Given the description of an element on the screen output the (x, y) to click on. 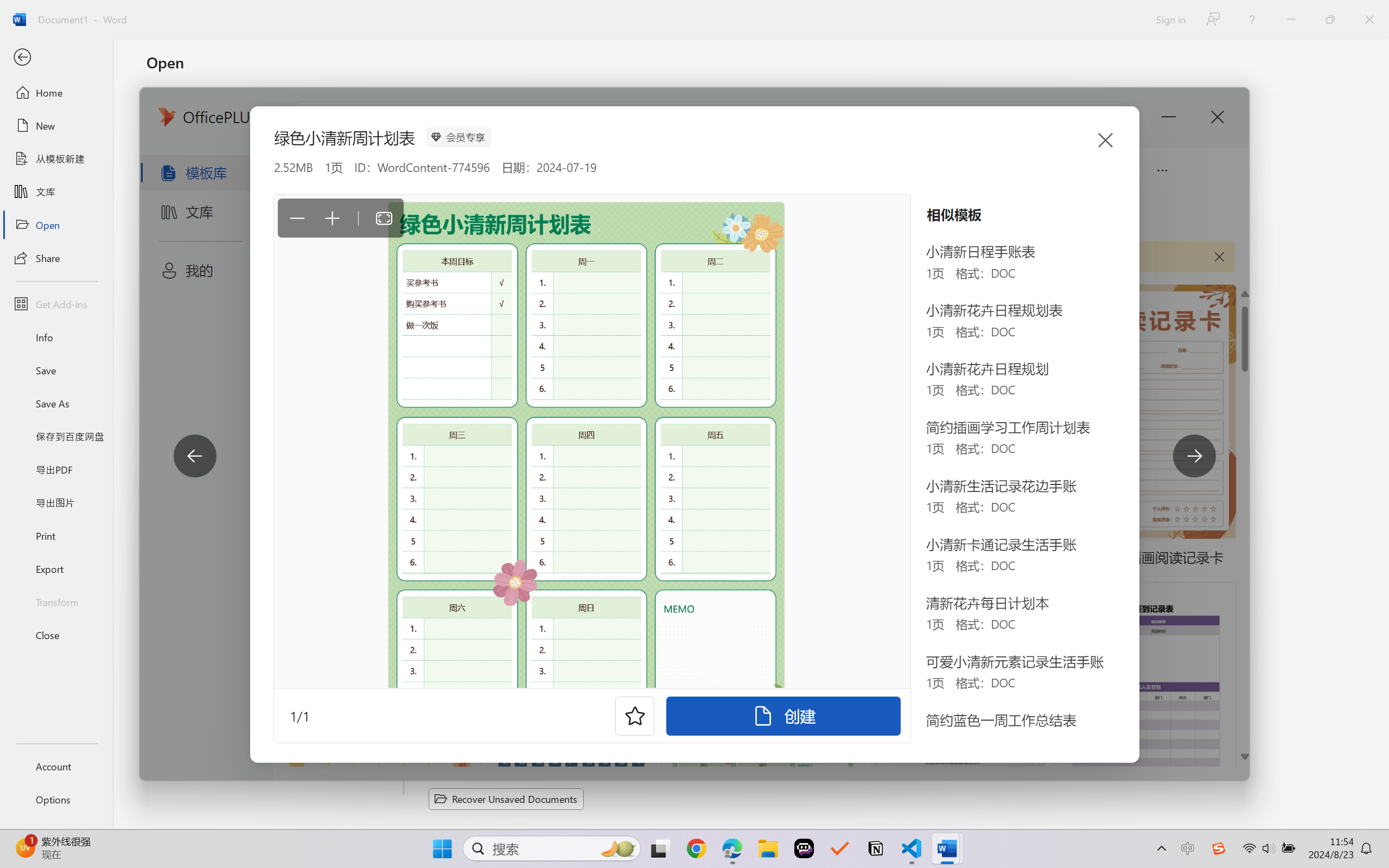
New (56, 125)
Get Add-ins (56, 303)
Sign in (1170, 18)
